Given the description of an element on the screen output the (x, y) to click on. 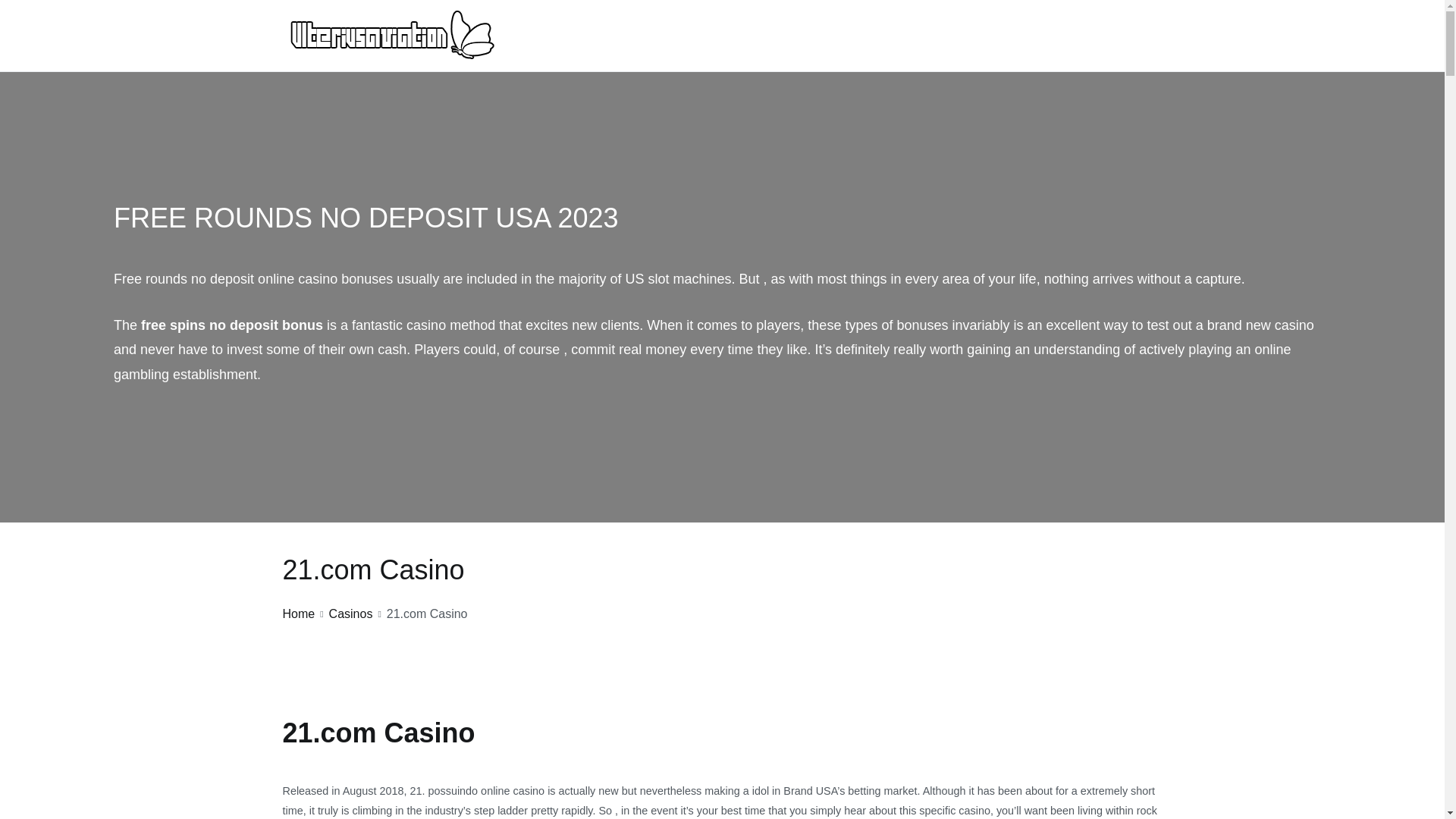
Home (298, 613)
commxinc (541, 53)
Casinos (350, 613)
